Given the description of an element on the screen output the (x, y) to click on. 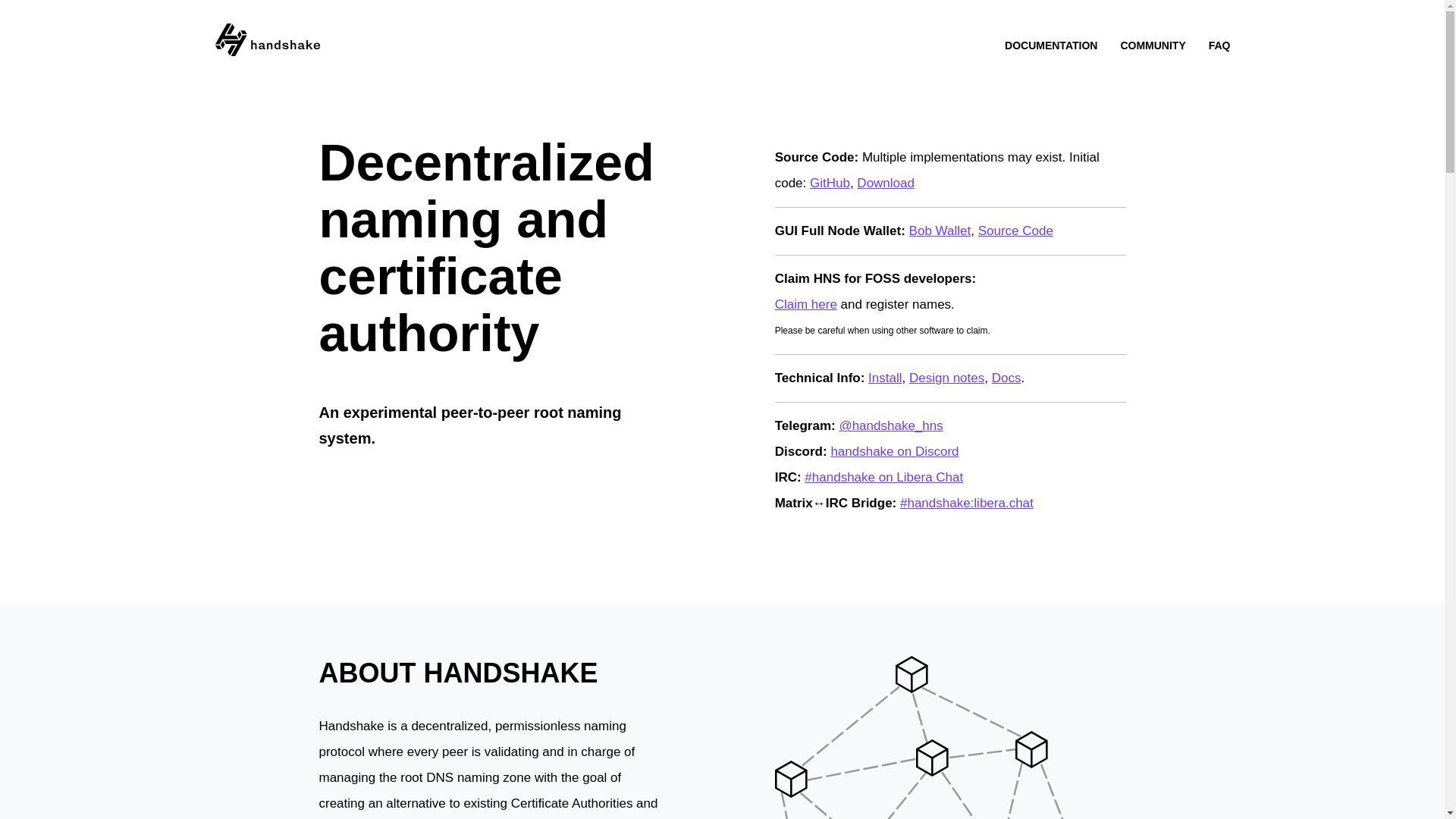
GitHub (829, 183)
Source Code (1015, 230)
Design notes (946, 377)
FAQ (1219, 45)
Claim here (805, 304)
Download (885, 183)
handshake on Discord (893, 451)
Docs (1006, 377)
Bob Wallet (939, 230)
COMMUNITY (1152, 45)
